Given the description of an element on the screen output the (x, y) to click on. 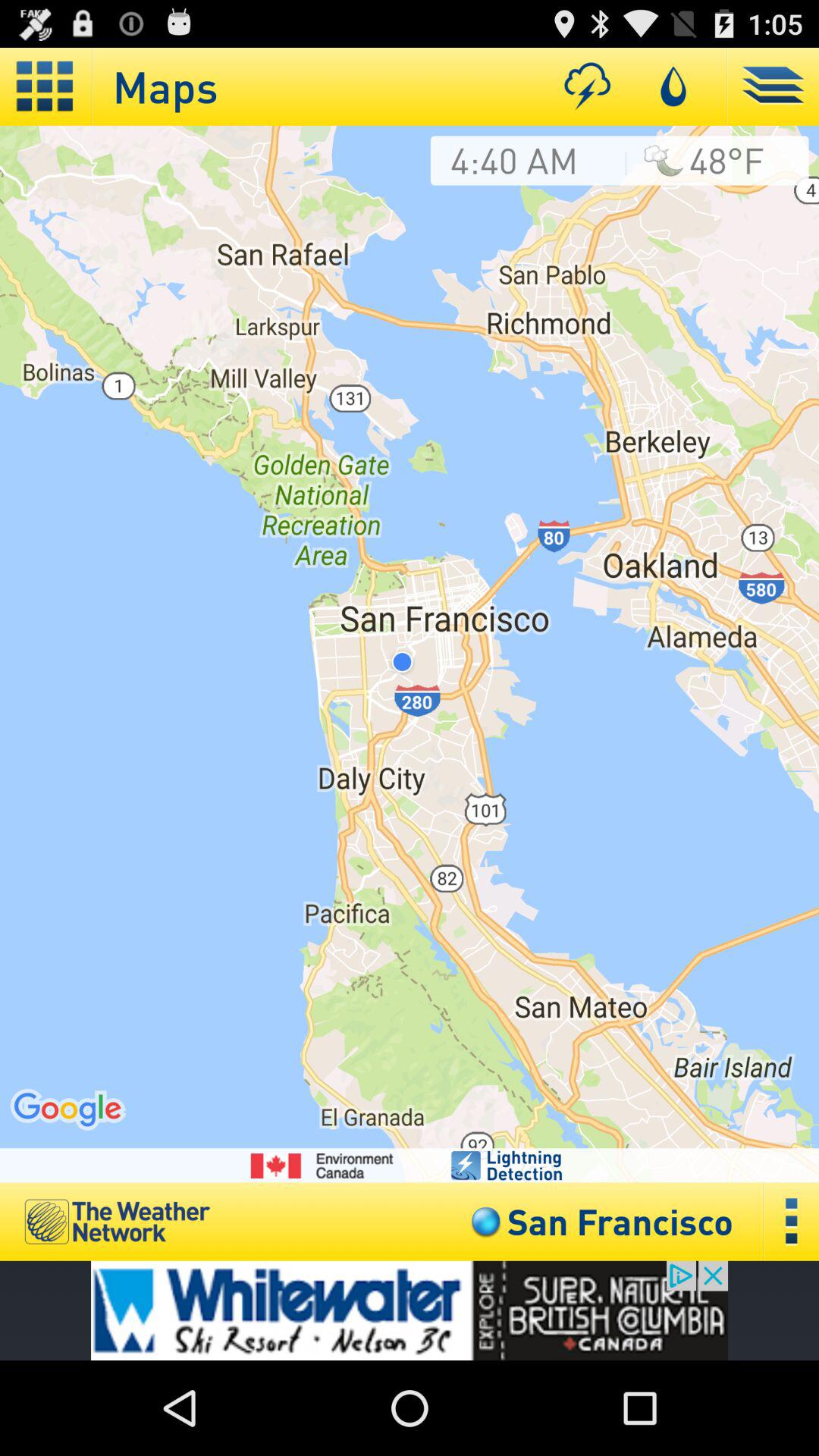
settings (791, 1221)
